Given the description of an element on the screen output the (x, y) to click on. 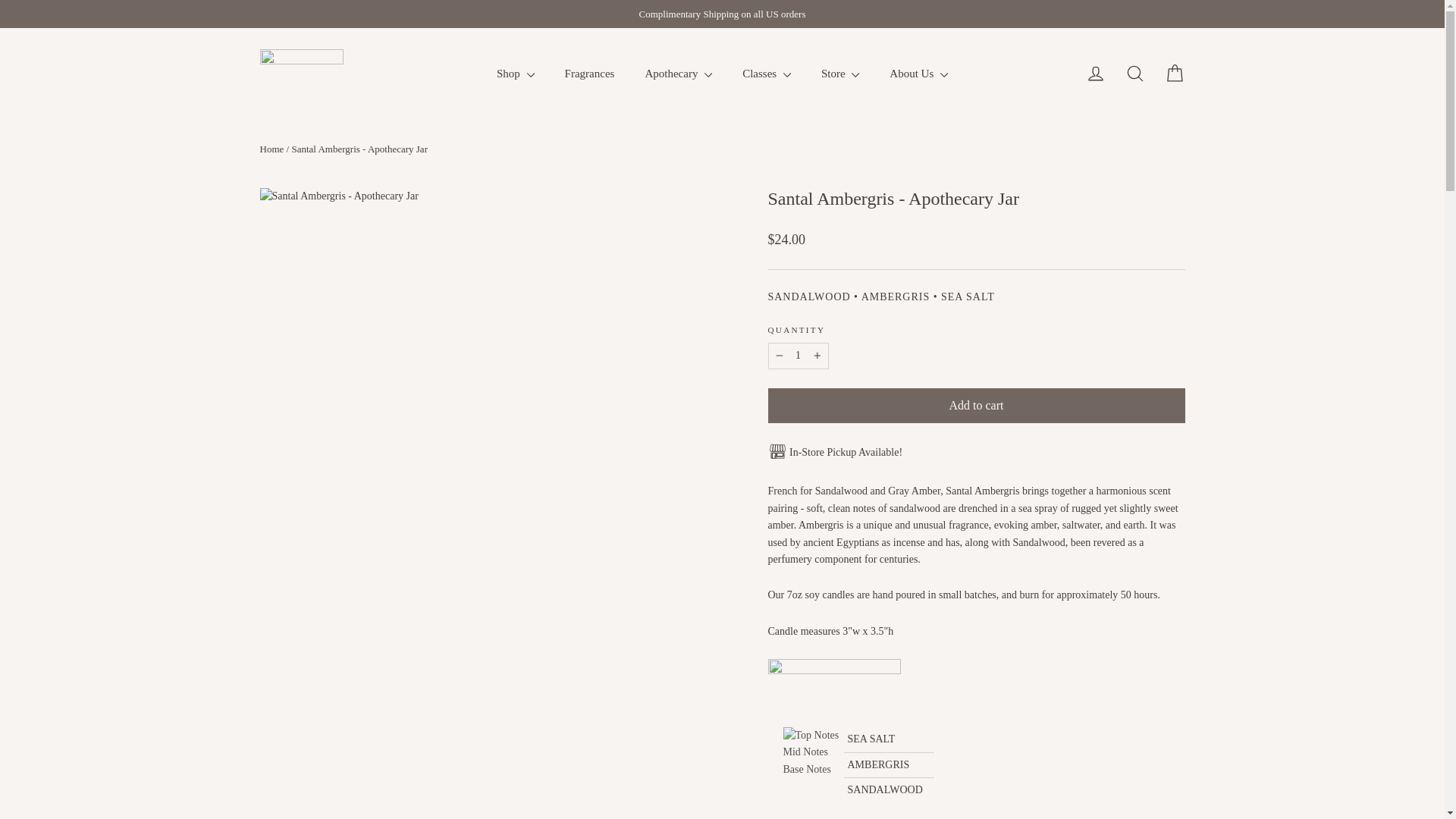
1 (797, 355)
icon-search (1134, 73)
Back to the frontpage (271, 148)
account (1094, 73)
